Given the description of an element on the screen output the (x, y) to click on. 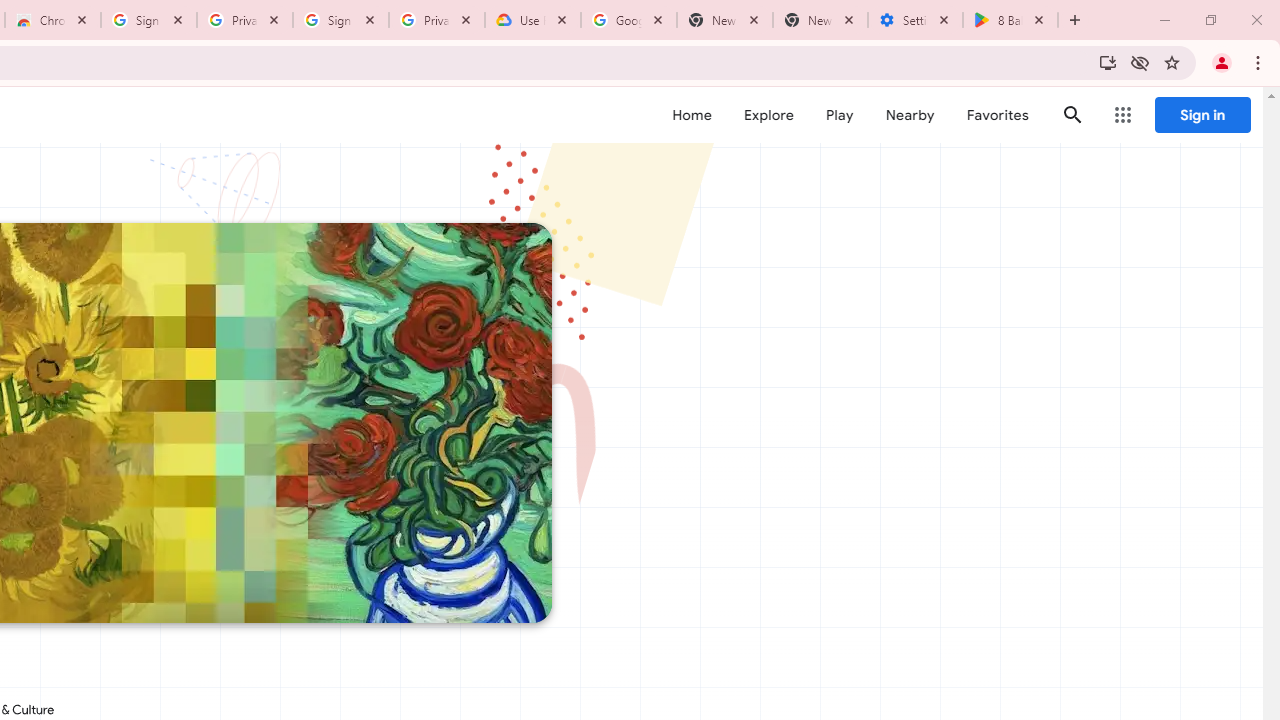
Settings - System (914, 20)
New Tab (820, 20)
Sign in - Google Accounts (341, 20)
8 Ball Pool - Apps on Google Play (1010, 20)
Favorites (996, 115)
